Given the description of an element on the screen output the (x, y) to click on. 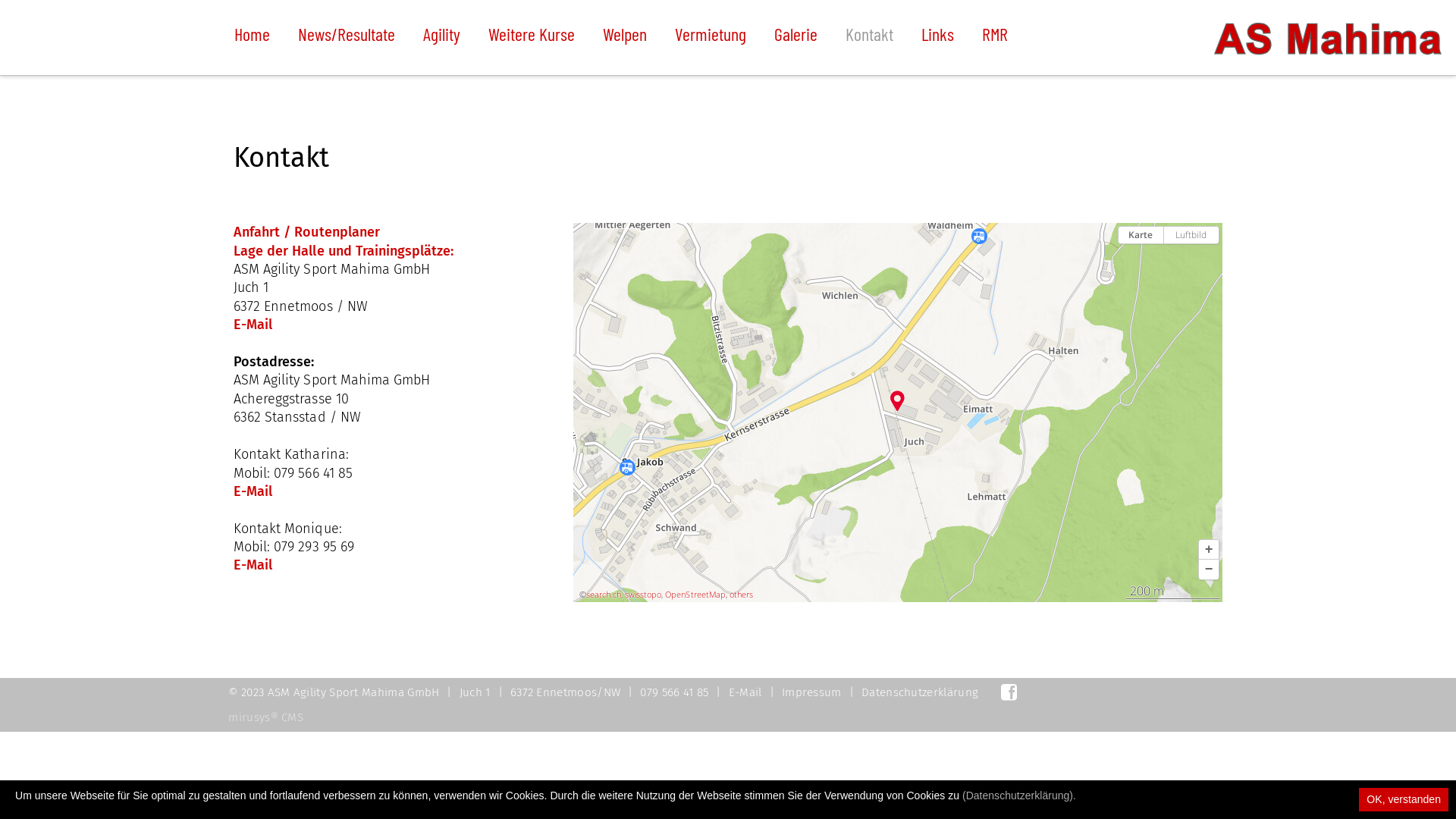
E-Mail Element type: text (745, 692)
E-Mail Element type: text (252, 491)
Karte Element type: text (1141, 234)
search.ch Element type: text (603, 594)
Galerie Element type: text (795, 37)
Luftbild Element type: text (1191, 234)
E-Mail Element type: text (252, 324)
E-Mail Element type: text (252, 564)
Agility Element type: text (441, 37)
Home Element type: text (251, 37)
Impressum Element type: text (811, 692)
Weitere Kurse Element type: text (531, 37)
Welpen Element type: text (624, 37)
+ Element type: text (1208, 549)
News/Resultate Element type: text (346, 37)
  Element type: text (1010, 695)
Vermietung Element type: text (710, 37)
Kontakt Element type: text (869, 37)
Links Element type: text (937, 37)
others Element type: text (741, 594)
OpenStreetMap Element type: text (694, 594)
swisstopo Element type: text (642, 594)
RMR Element type: text (994, 37)
